Given the description of an element on the screen output the (x, y) to click on. 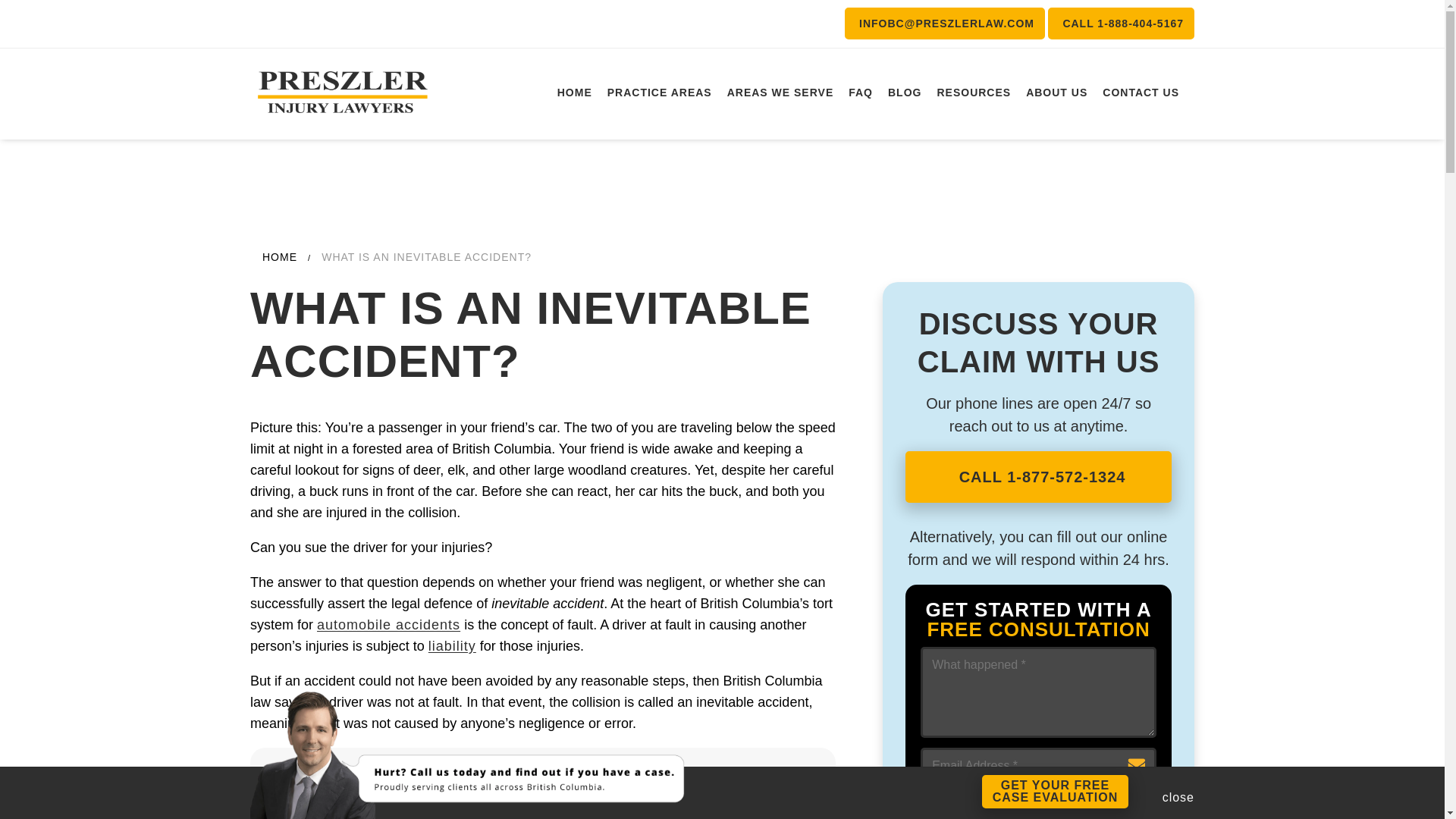
close (1177, 791)
HOME (574, 92)
BLOG (1055, 791)
PRACTICE AREAS (904, 92)
CALL 1-888-404-5167 (659, 92)
ABOUT US (1120, 23)
CONTACT US (1055, 92)
AREAS WE SERVE (1140, 92)
RESOURCES (780, 92)
FAQ (972, 92)
